Given the description of an element on the screen output the (x, y) to click on. 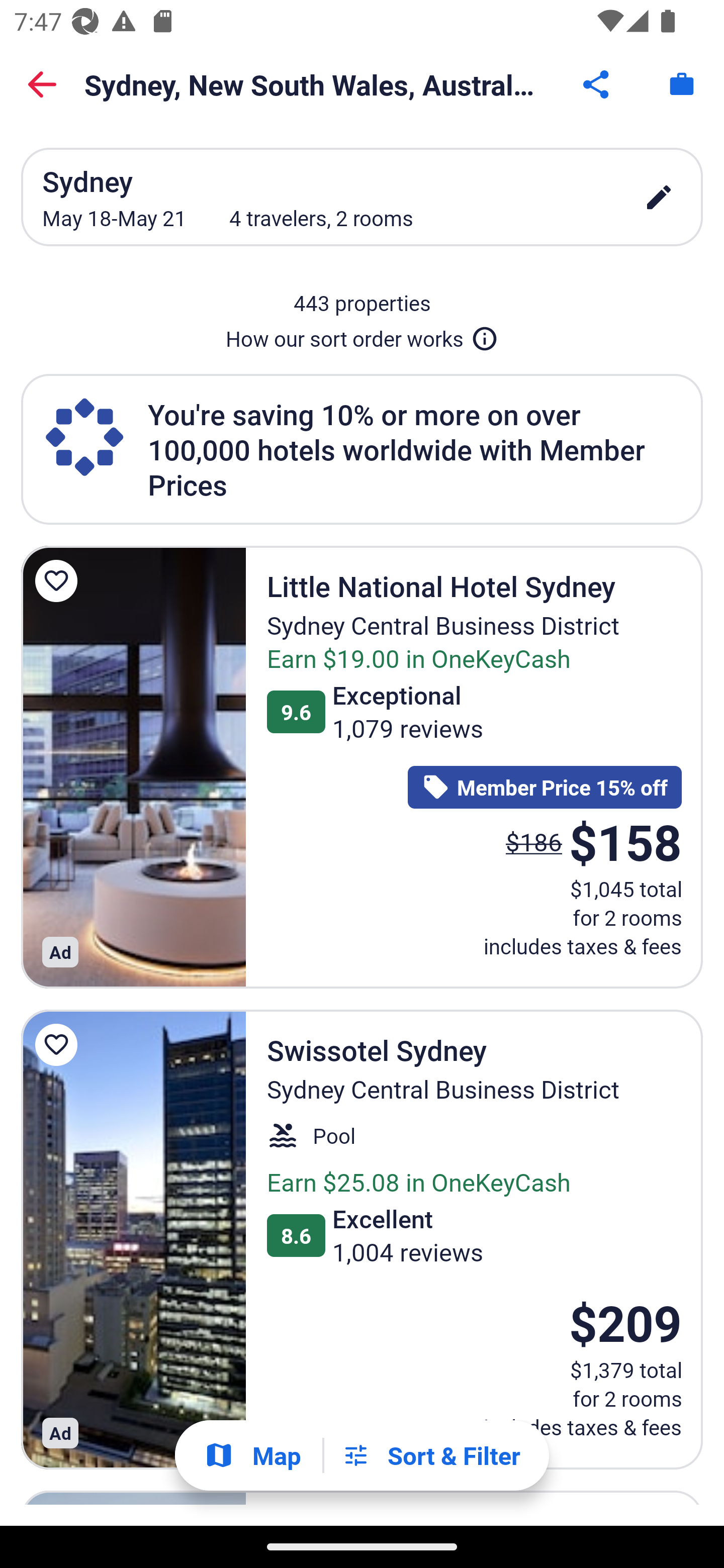
Back (42, 84)
Share Button (597, 84)
Trips. Button (681, 84)
Sydney May 18-May 21 4 travelers, 2 rooms edit (361, 196)
How our sort order works (361, 334)
Save Little National Hotel Sydney to a trip (59, 580)
Little National Hotel Sydney (133, 766)
$186 The price was $186 (533, 841)
Save Swissotel Sydney to a trip (59, 1043)
Swissotel Sydney (133, 1239)
Filters Sort & Filter Filters Button (430, 1455)
Show map Map Show map Button (252, 1455)
